Given the description of an element on the screen output the (x, y) to click on. 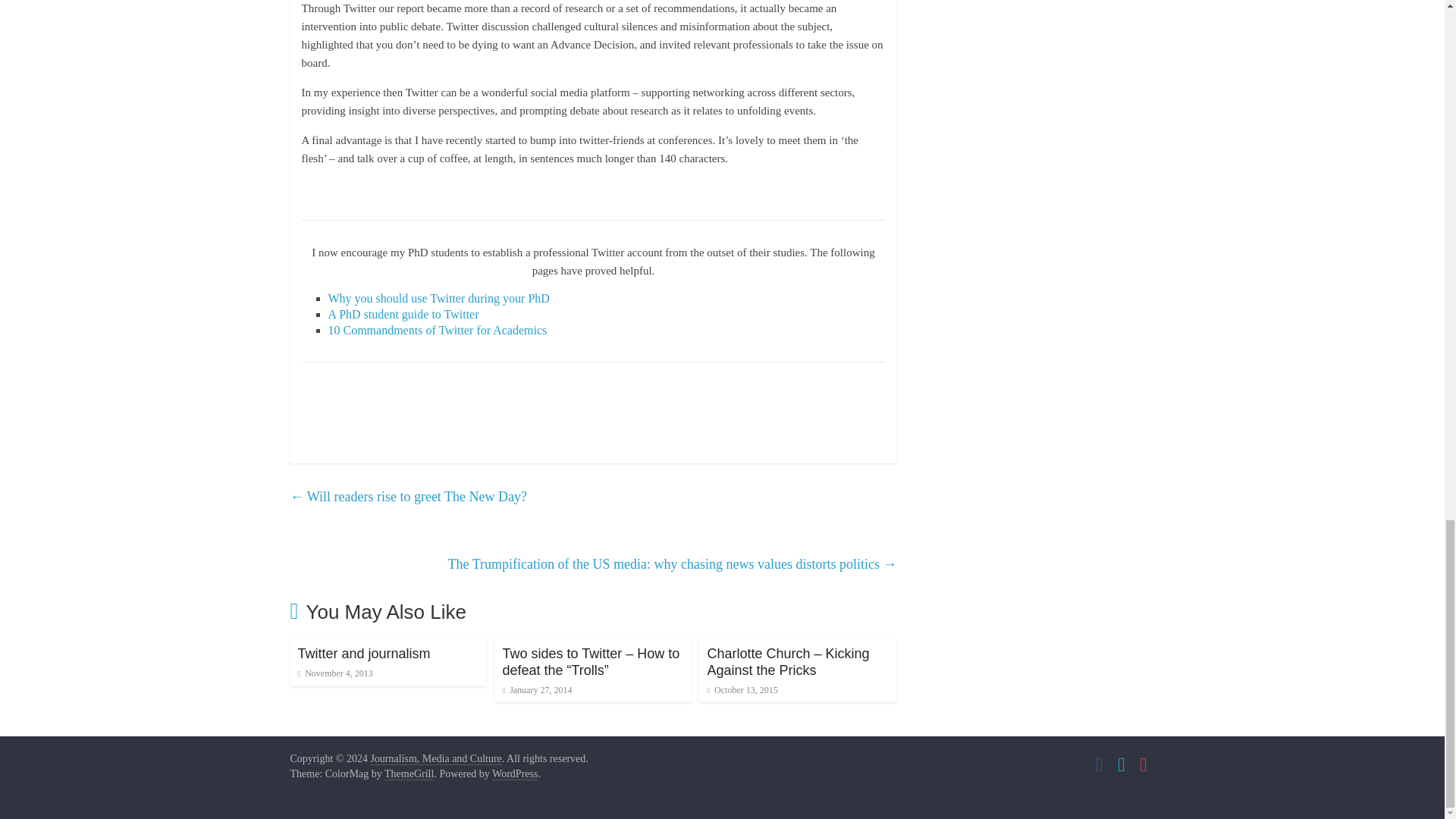
8:38 am (741, 689)
10 Commandments of Twitter for Academics (437, 329)
3:58 pm (334, 673)
November 4, 2013 (334, 673)
Why you should use Twitter during your PhD (437, 297)
2:21 pm (537, 689)
Twitter and journalism (363, 653)
Twitter and journalism (363, 653)
Journalism, Media and Culture (434, 758)
A PhD student guide to Twitter (403, 314)
